Given the description of an element on the screen output the (x, y) to click on. 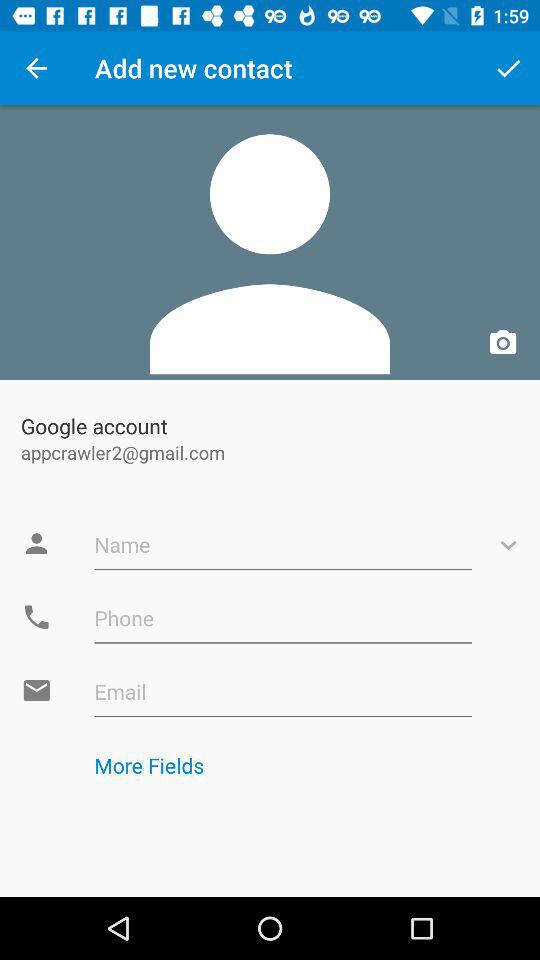
choose the item above the google account app (270, 242)
